Given the description of an element on the screen output the (x, y) to click on. 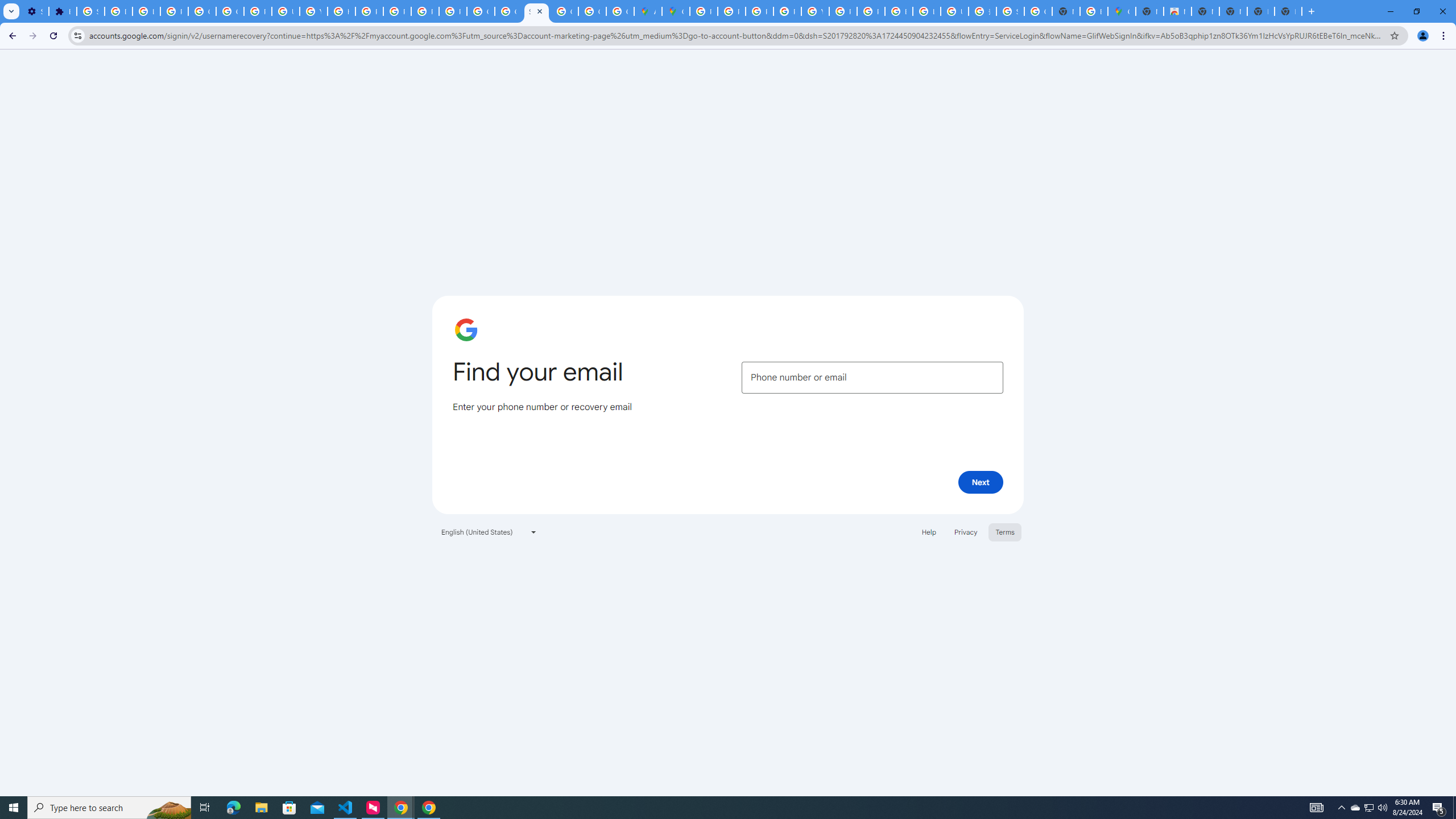
Learn how to find your photos - Google Photos Help (146, 11)
Create your Google Account (620, 11)
Google Maps (1121, 11)
Delete photos & videos - Computer - Google Photos Help (118, 11)
Privacy Help Center - Policies Help (759, 11)
